Given the description of an element on the screen output the (x, y) to click on. 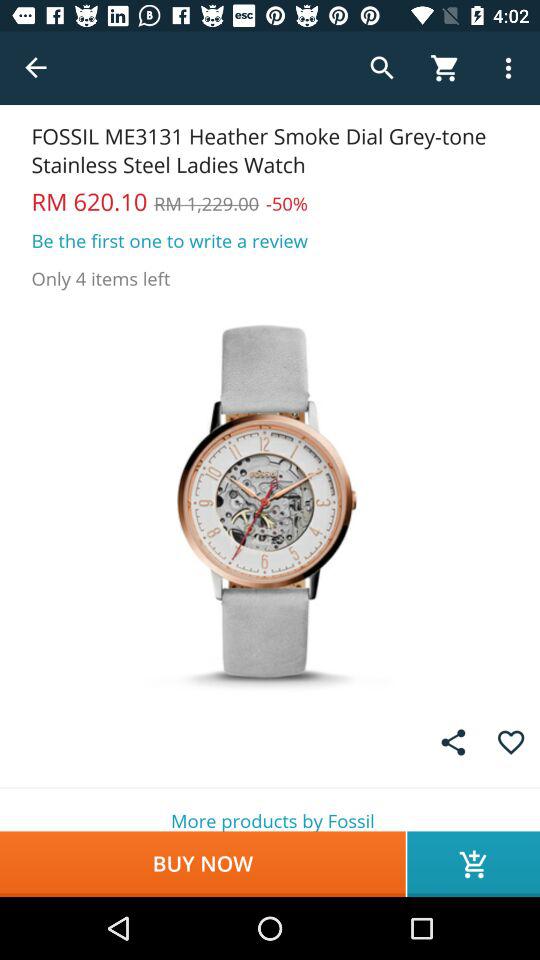
jump to the more products by item (270, 809)
